Given the description of an element on the screen output the (x, y) to click on. 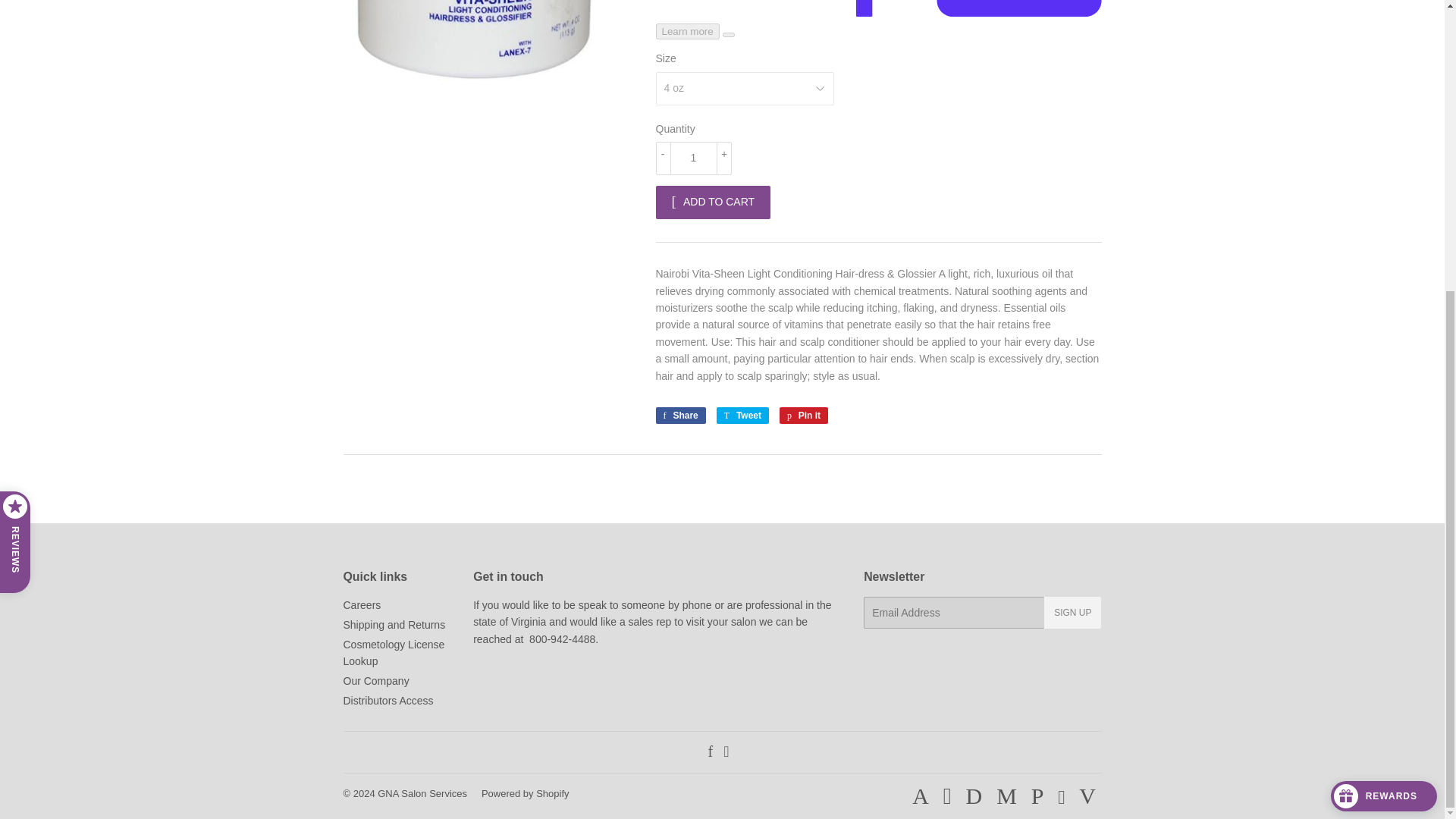
Tweet on Twitter (742, 415)
1 (692, 158)
Pin on Pinterest (803, 415)
Share on Facebook (679, 415)
